Given the description of an element on the screen output the (x, y) to click on. 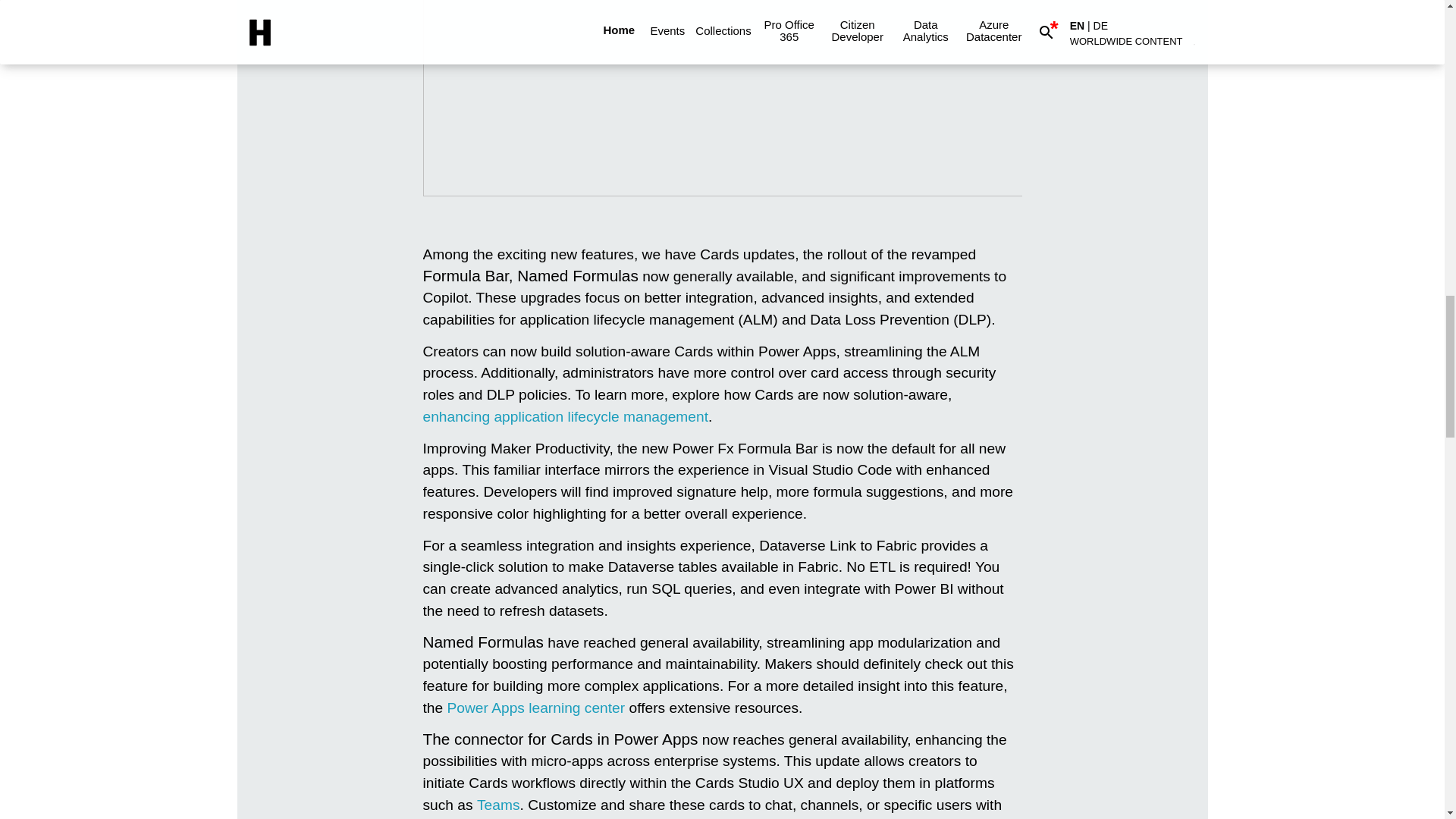
enhancing application lifecycle management (566, 416)
Teams (498, 804)
Power Apps learning center (536, 707)
Power Apps (536, 707)
Power Apps (566, 416)
Teams (498, 804)
